Given the description of an element on the screen output the (x, y) to click on. 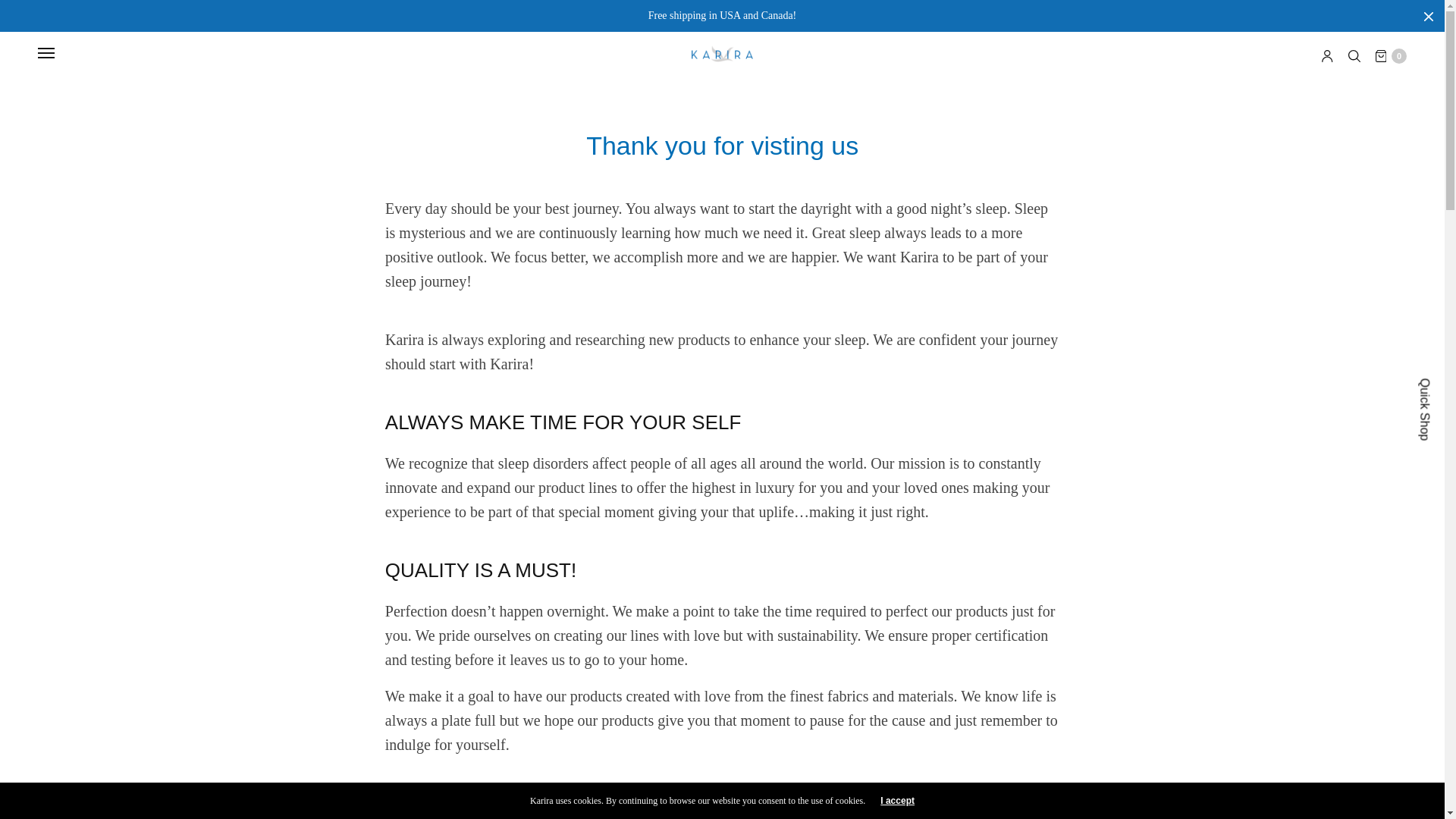
0 (1390, 55)
Cart (1390, 55)
karen-on-bed-about-us (722, 789)
Search (19, 6)
